Given the description of an element on the screen output the (x, y) to click on. 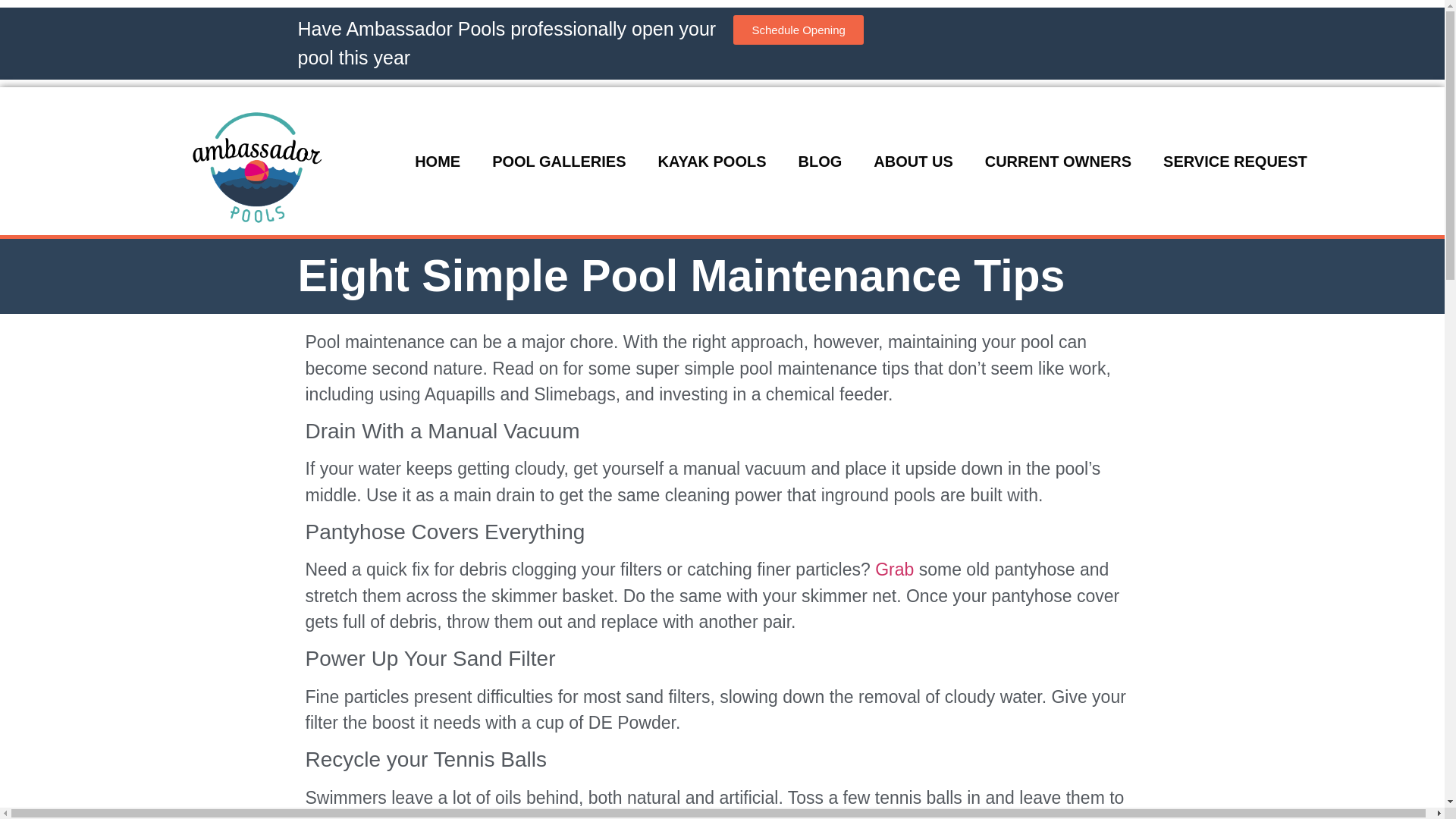
KAYAK POOLS (711, 160)
Schedule Opening (798, 30)
SERVICE REQUEST (1235, 160)
ABOUT US (912, 160)
BLOG (821, 160)
CURRENT OWNERS (1058, 160)
POOL GALLERIES (559, 160)
Grab (894, 569)
absorb (448, 816)
HOME (437, 160)
